Given the description of an element on the screen output the (x, y) to click on. 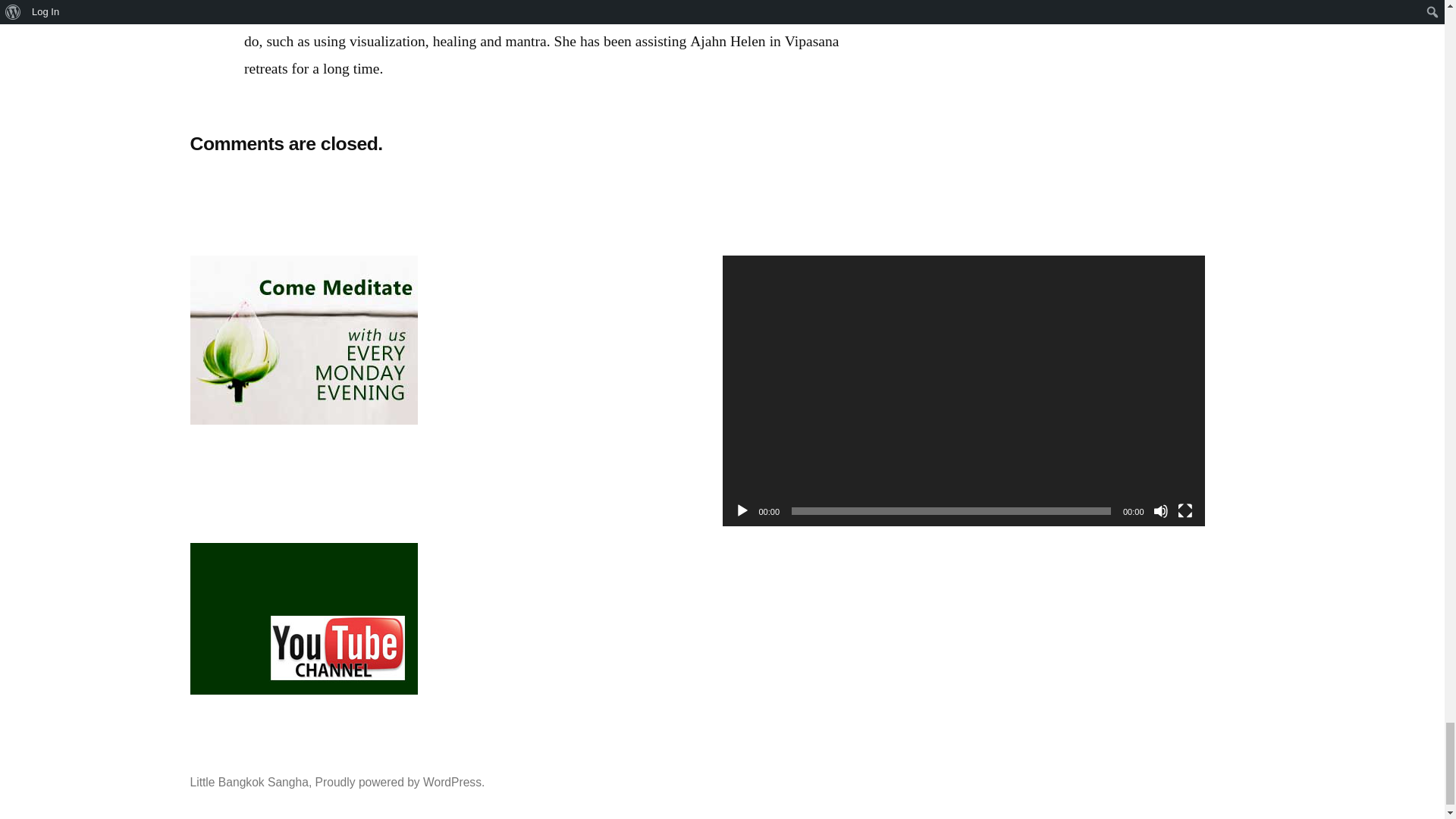
Mute (1160, 510)
Fullscreen (1184, 510)
Little Bangkok Sangha (248, 781)
Play (741, 510)
